Given the description of an element on the screen output the (x, y) to click on. 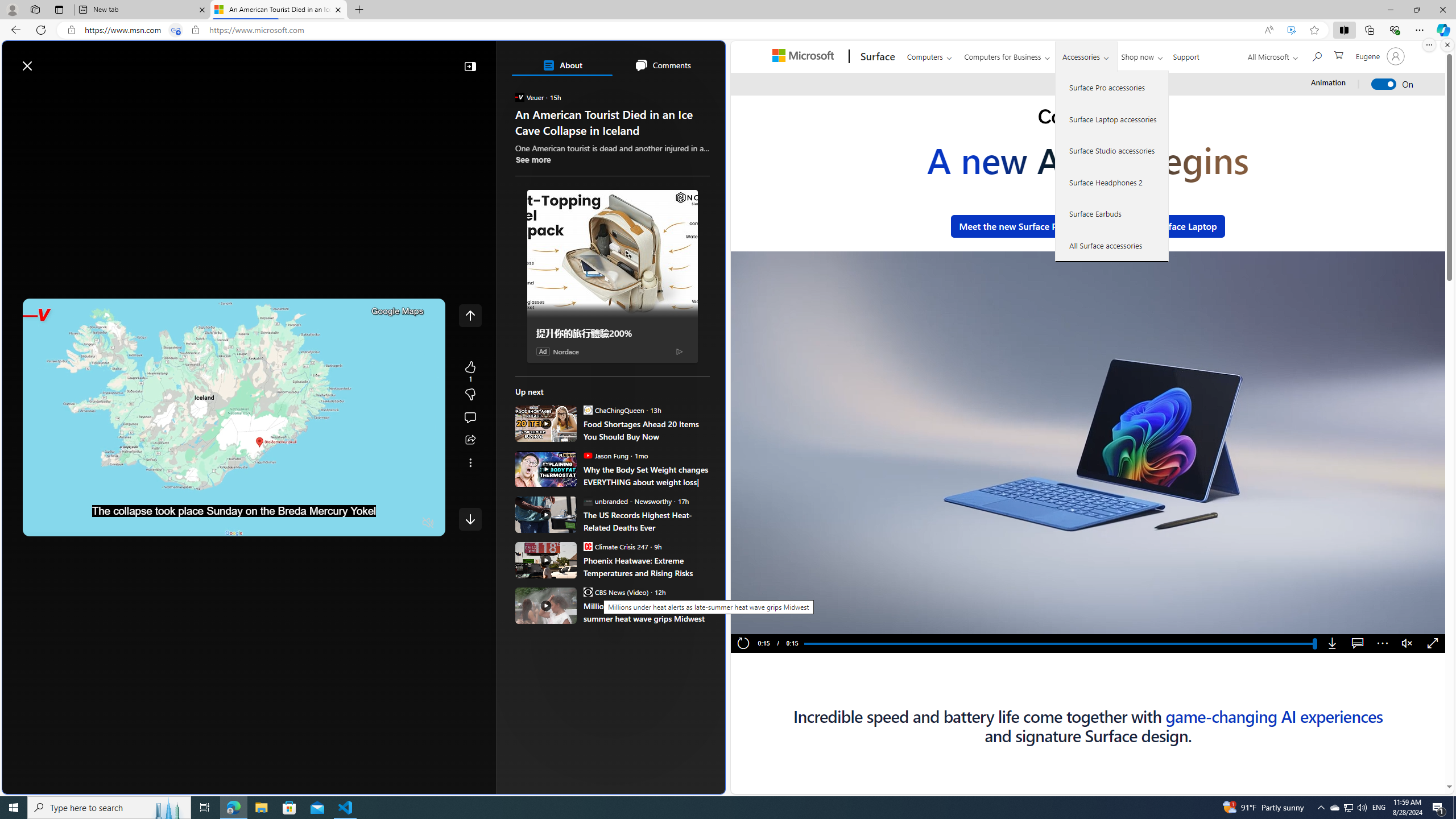
Veuer (519, 96)
Open navigation menu (16, 92)
Surface Headphones 2 (1112, 182)
Tabs in split screen (175, 29)
Close split screen. (1447, 45)
